Given the description of an element on the screen output the (x, y) to click on. 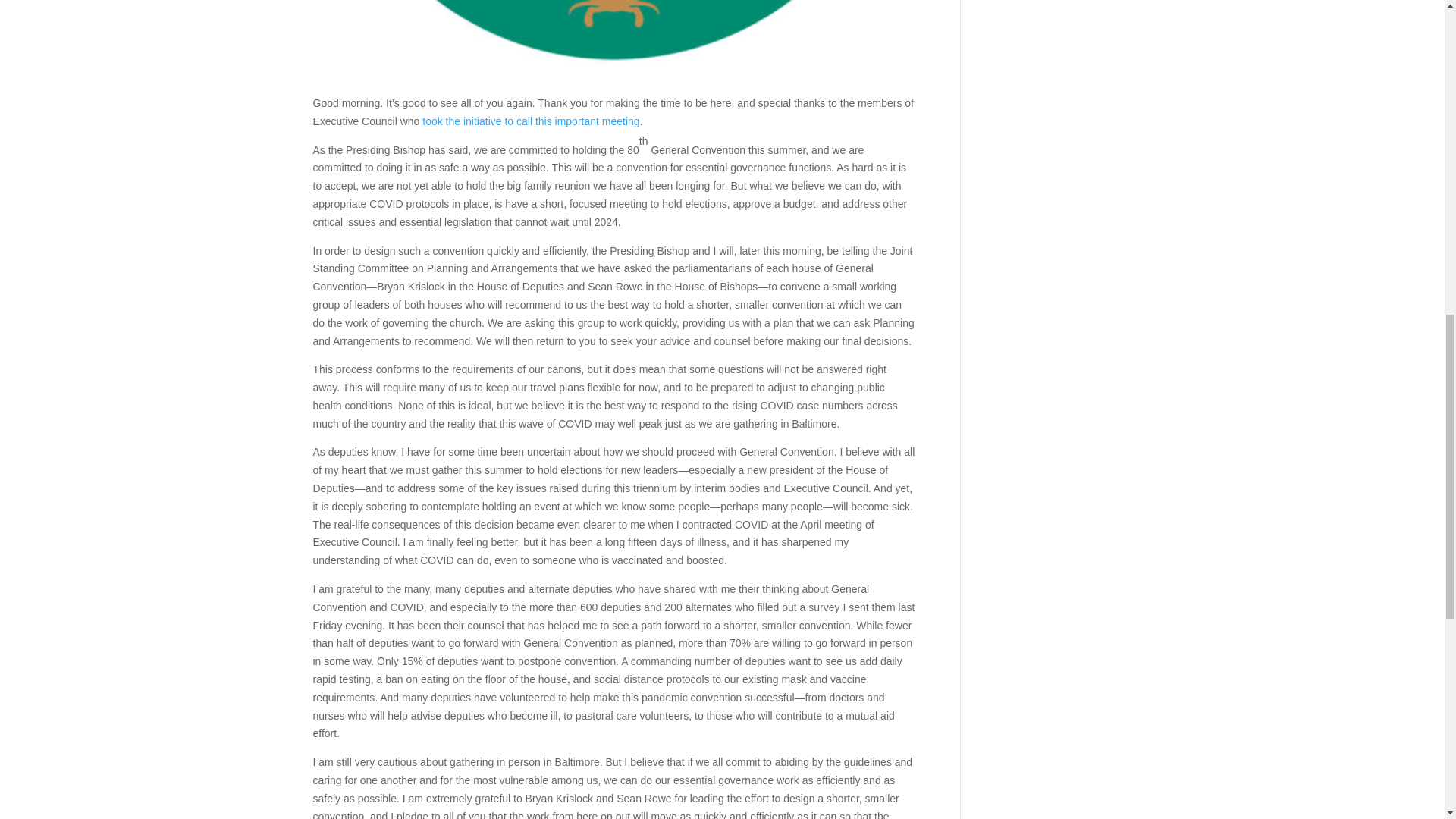
took the initiative to call this important meeting (530, 121)
